Given the description of an element on the screen output the (x, y) to click on. 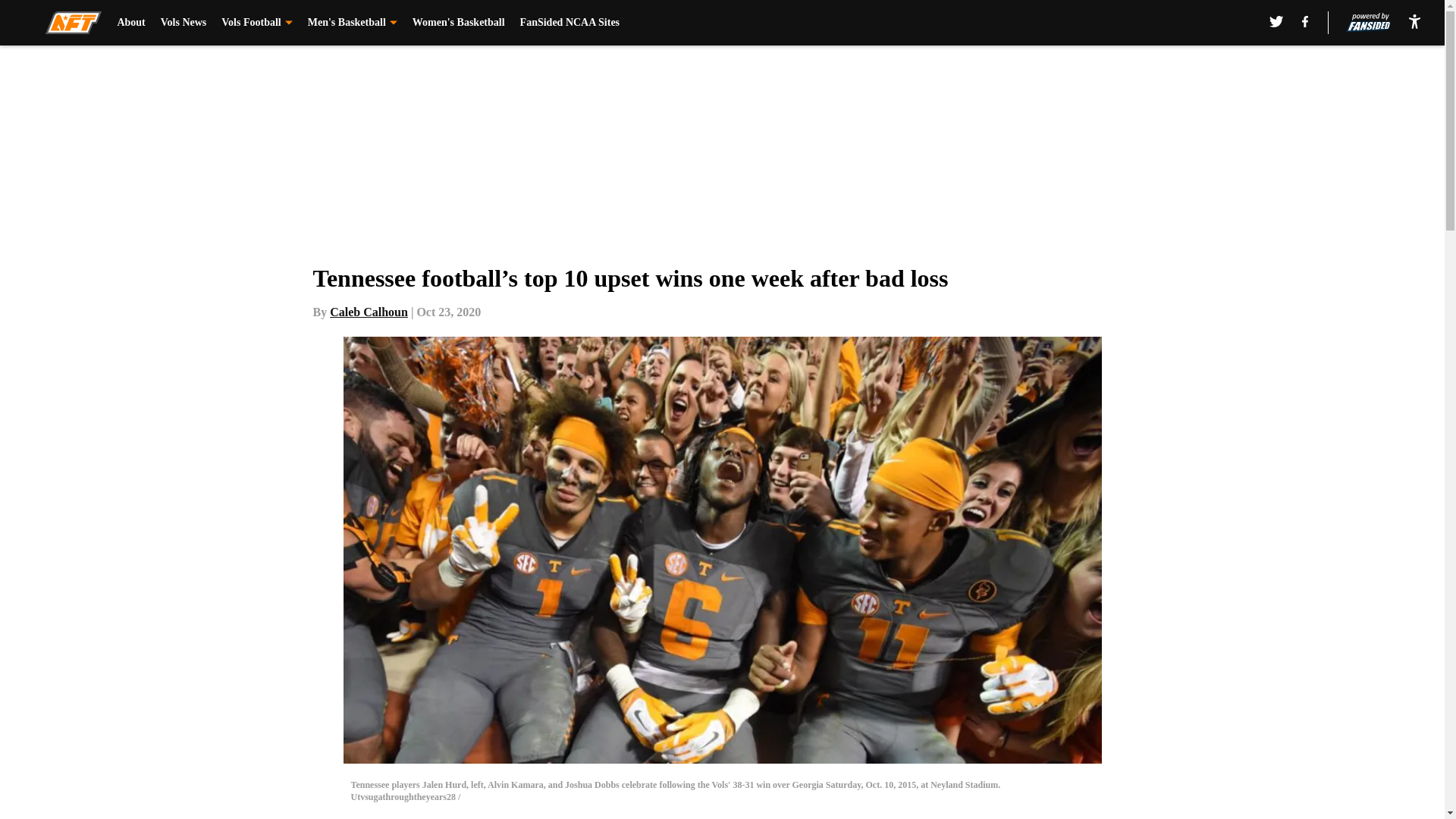
Vols News (183, 22)
Women's Basketball (458, 22)
About (130, 22)
Caleb Calhoun (368, 311)
FanSided NCAA Sites (569, 22)
